Given the description of an element on the screen output the (x, y) to click on. 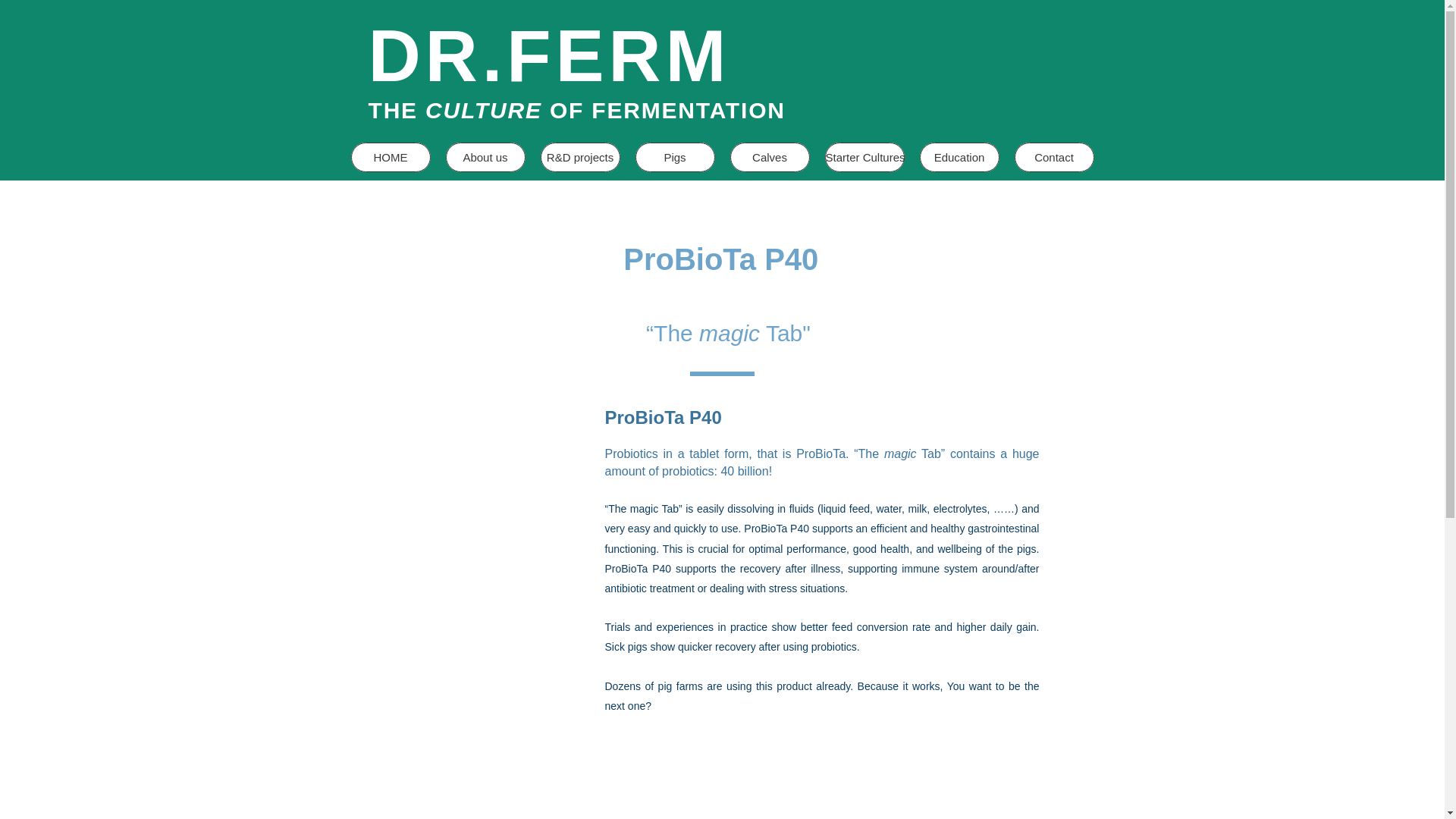
Starter Cultures (864, 156)
Contact (1054, 156)
Education (958, 156)
Pigs (674, 156)
About us (485, 156)
HOME (389, 156)
Calves (769, 156)
